Given the description of an element on the screen output the (x, y) to click on. 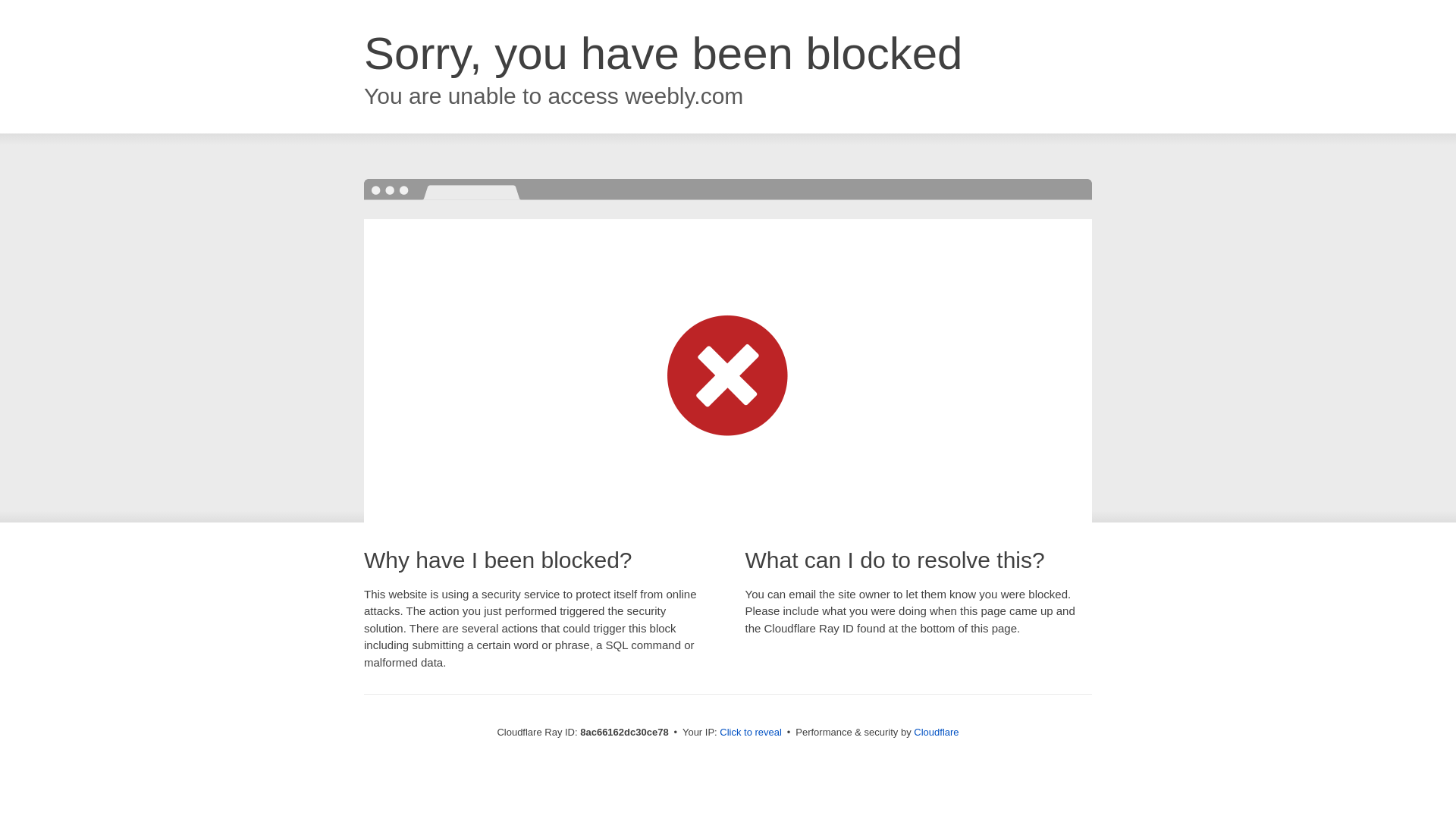
Click to reveal (750, 732)
Cloudflare (936, 731)
